Given the description of an element on the screen output the (x, y) to click on. 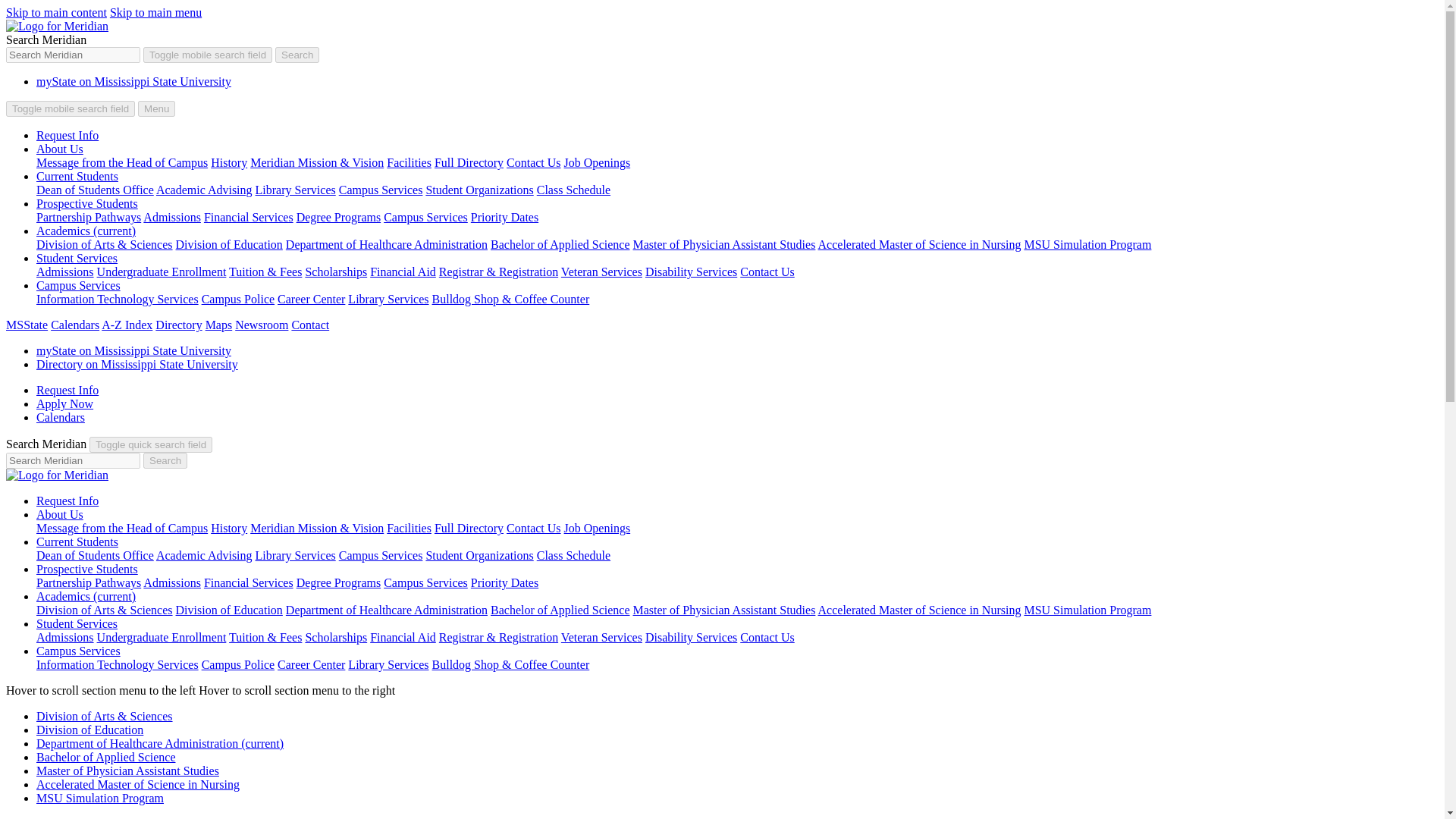
Full Directory (468, 162)
Skip to main menu (156, 11)
Campus Services (425, 216)
Search Meridian (207, 54)
Meridian (56, 475)
Meridian (56, 26)
Campus Services (381, 189)
Search Meridian (150, 444)
MSU Simulation Program (1087, 244)
Skip to main content (55, 11)
